Given the description of an element on the screen output the (x, y) to click on. 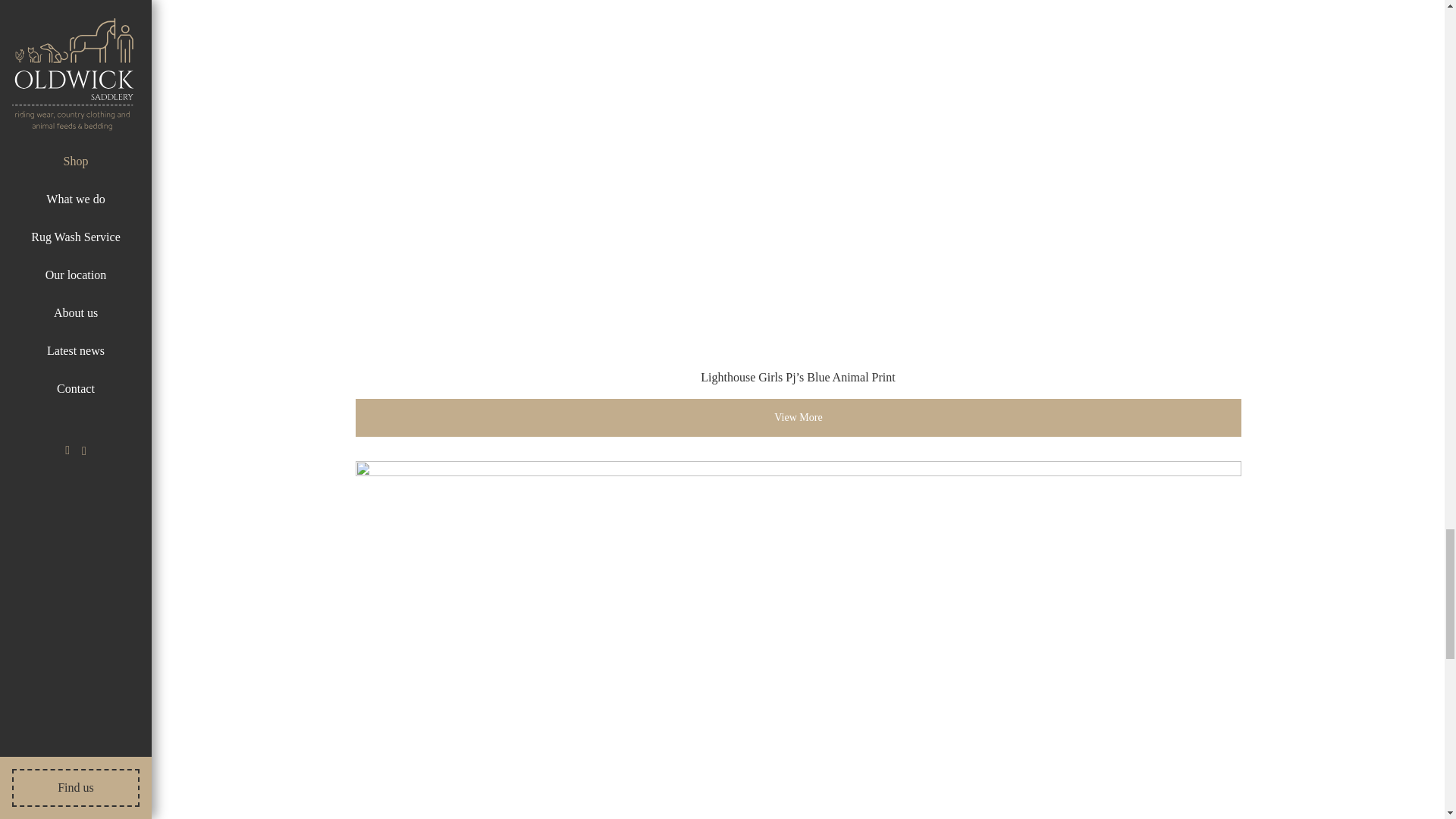
View More (797, 417)
